Given the description of an element on the screen output the (x, y) to click on. 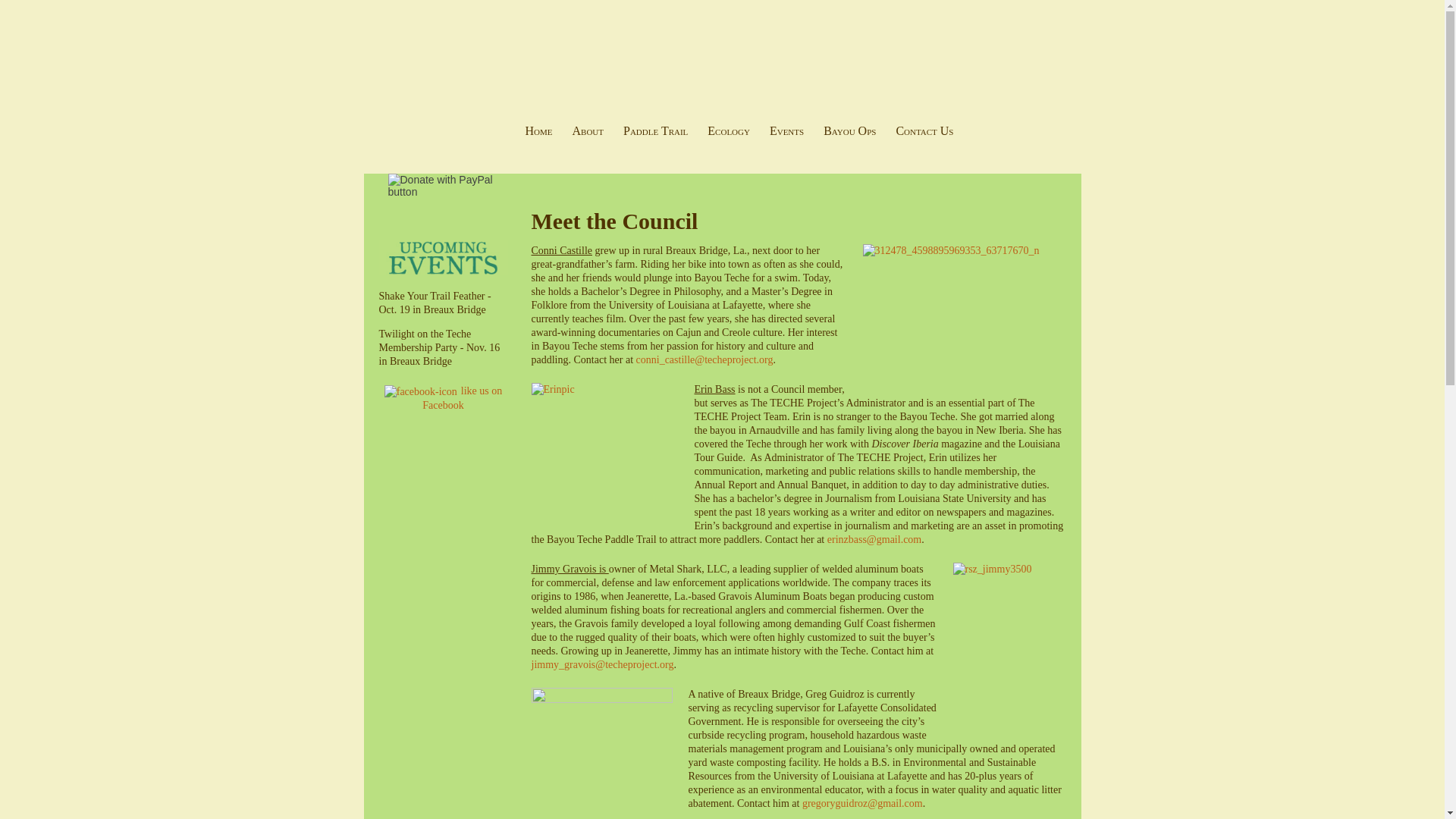
Events (786, 131)
Contact Us (924, 131)
About (588, 131)
Ecology (728, 131)
PayPal - The safer, easier way to pay online! (448, 185)
Bayou Ops (850, 131)
Skip to content (374, 118)
Skip to content (374, 118)
Home (537, 131)
Paddle Trail (655, 131)
